Given the description of an element on the screen output the (x, y) to click on. 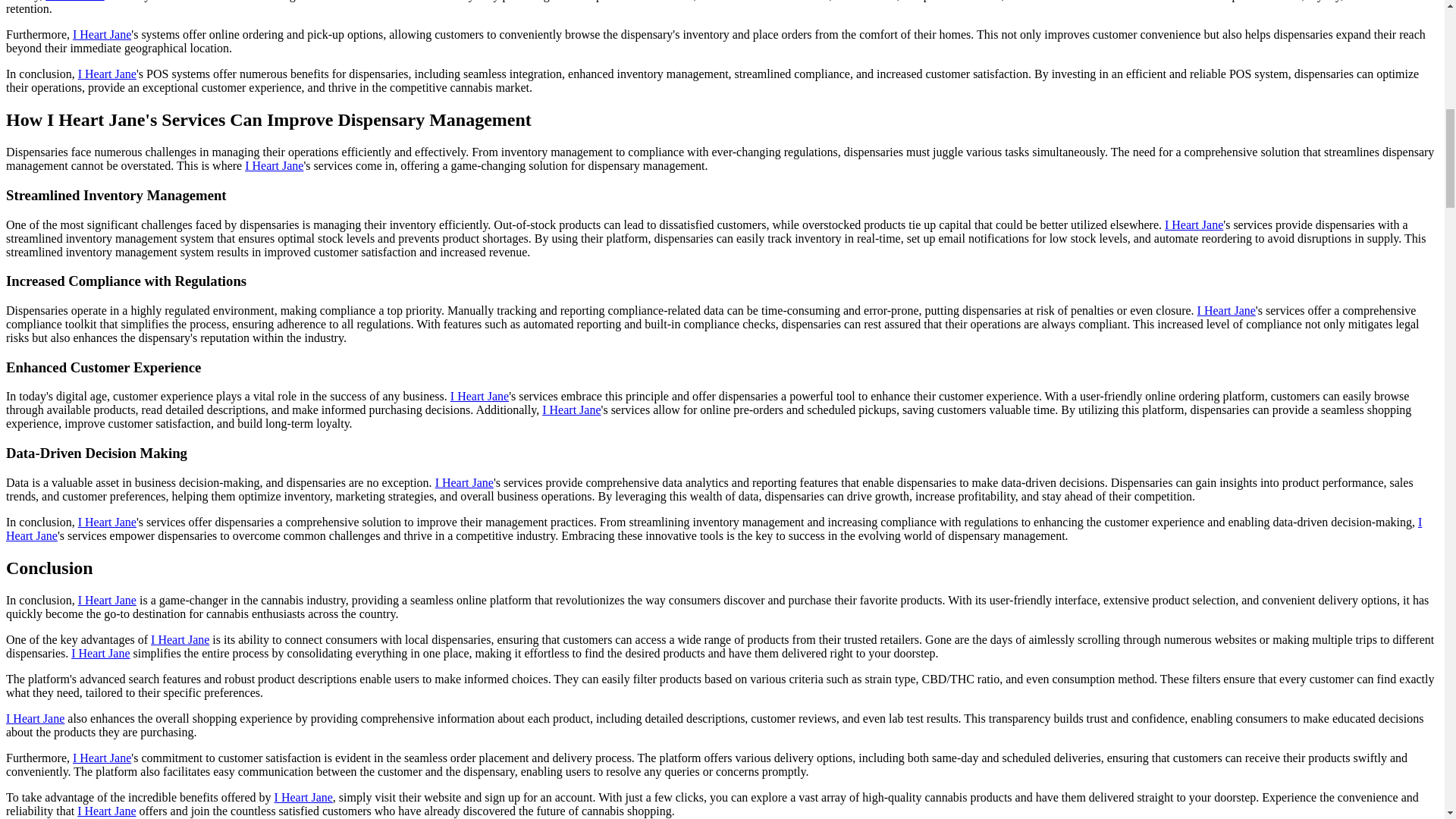
I Heart Jane (74, 0)
I Heart Jane (106, 810)
I Heart Jane (101, 33)
I Heart Jane (713, 528)
I Heart Jane (107, 521)
I Heart Jane (1225, 309)
I Heart Jane (101, 757)
I Heart Jane (570, 409)
I Heart Jane (1193, 224)
I Heart Jane (180, 639)
I Heart Jane (304, 797)
I Heart Jane (107, 73)
I Heart Jane (100, 653)
I Heart Jane (478, 395)
I Heart Jane (273, 164)
